Given the description of an element on the screen output the (x, y) to click on. 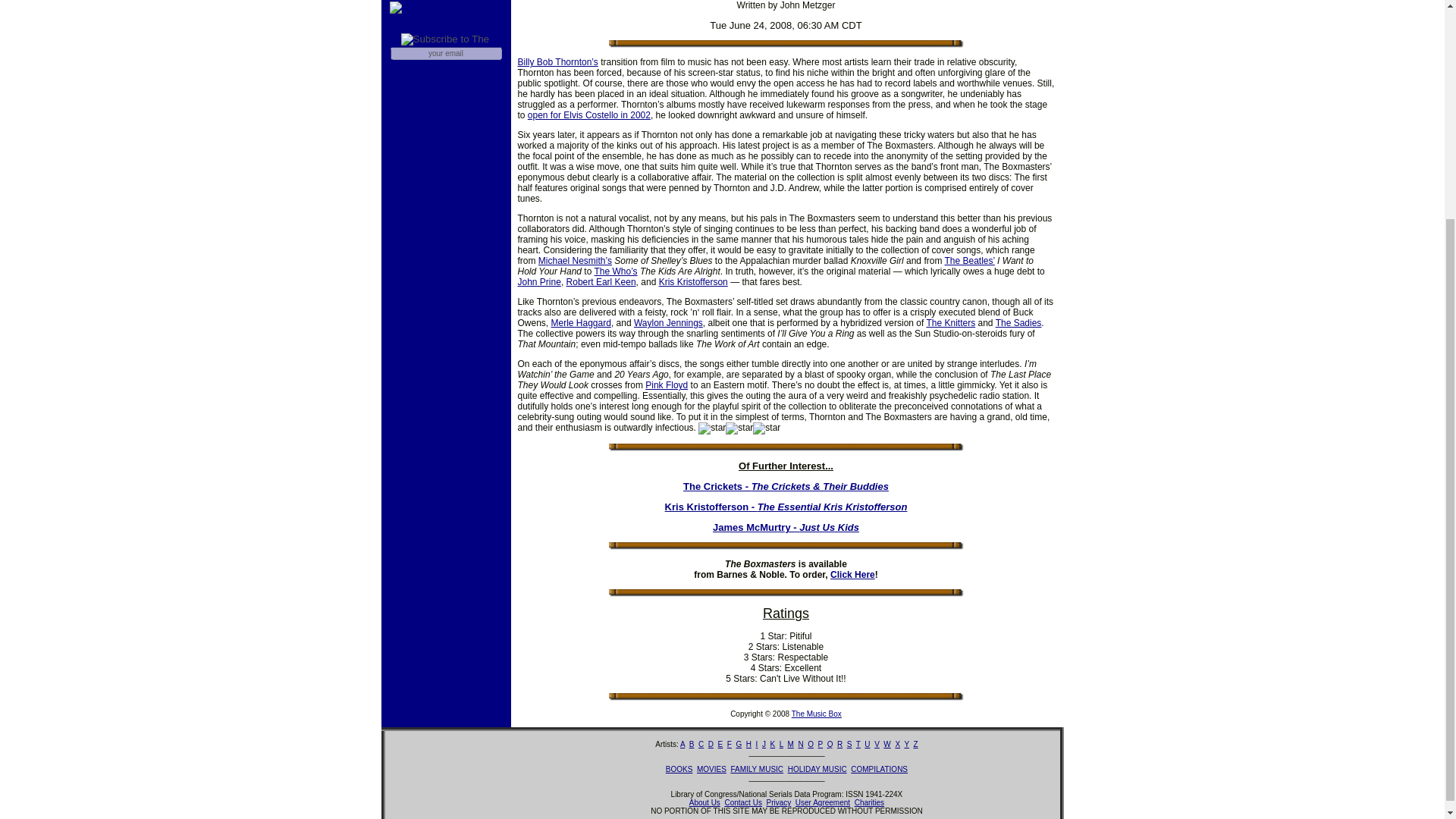
James McMurtry - Just Us Kids (786, 527)
The Sadies (1018, 322)
Merle Haggard (581, 322)
Waylon Jennings (668, 322)
The Knitters (950, 322)
The Music Box (816, 714)
Kris Kristofferson - The Essential Kris Kristofferson (786, 506)
your email (445, 52)
John Prine (538, 281)
Pink Floyd (666, 385)
open for Elvis Costello in 2002 (588, 114)
Robert Earl Keen (601, 281)
Kris Kristofferson (693, 281)
Click Here (852, 574)
